Given the description of an element on the screen output the (x, y) to click on. 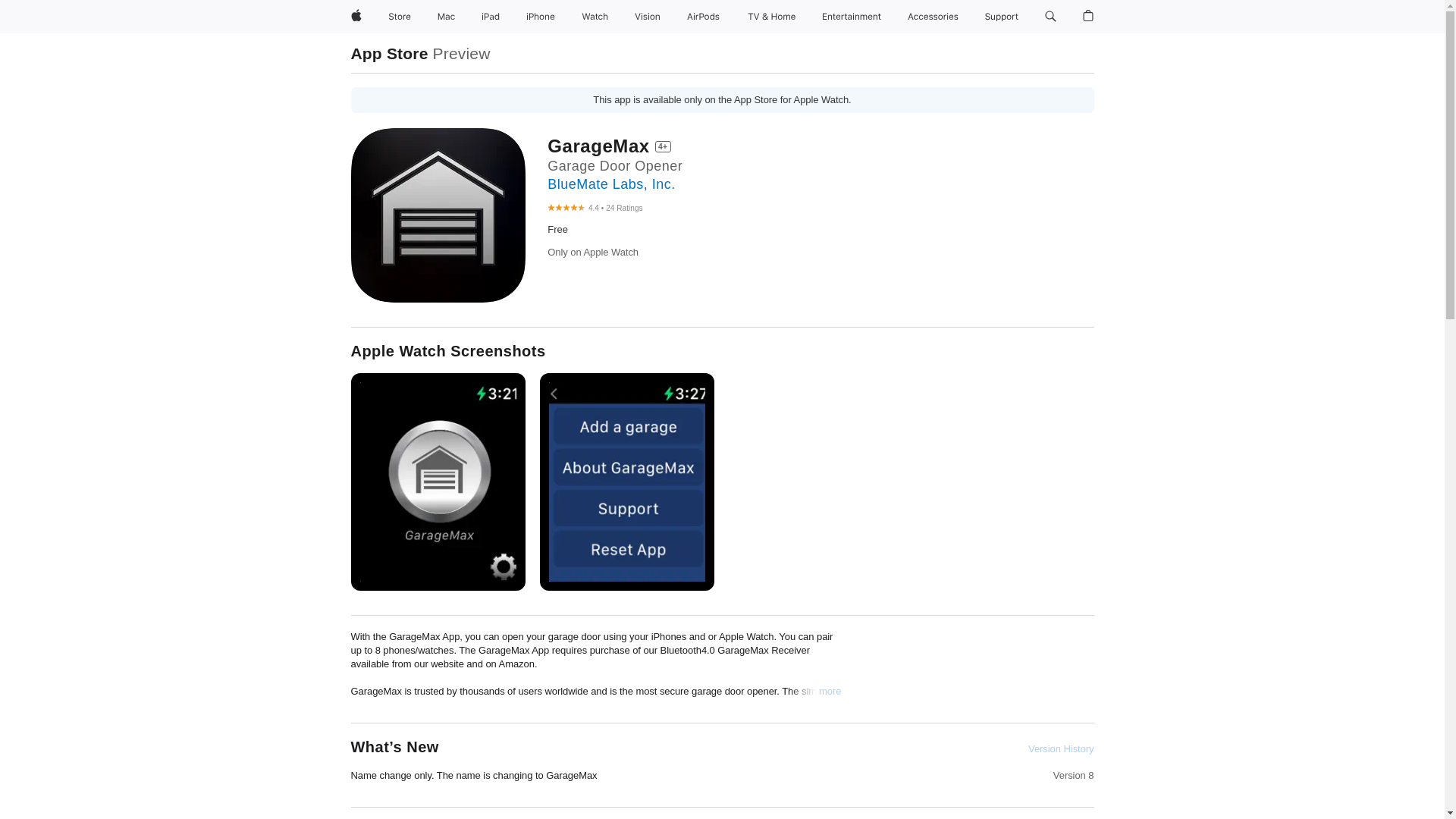
more (829, 691)
iPad (490, 16)
Vision (647, 16)
Store (398, 16)
AirPods (703, 16)
iPhone (539, 16)
Watch (594, 16)
Support (1001, 16)
Mac (445, 16)
App Store (389, 53)
Accessories (932, 16)
Apple (354, 16)
Version History (1060, 748)
BlueMate Labs, Inc. (611, 183)
Entertainment (851, 16)
